Given the description of an element on the screen output the (x, y) to click on. 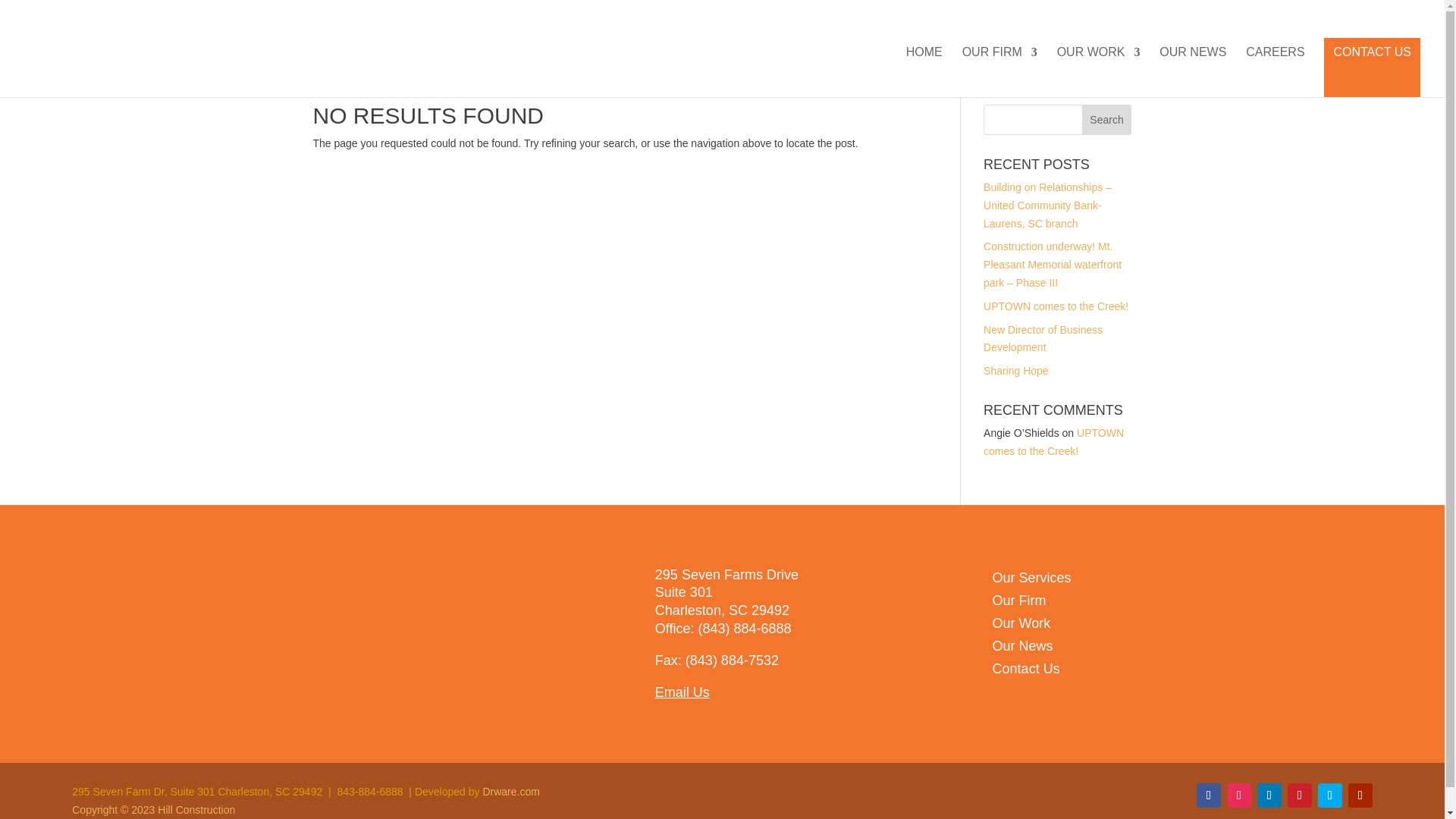
CONTACT US (1372, 67)
Email Us (682, 692)
Our News (1022, 648)
Follow on Twitter (1329, 794)
OUR WORK (1098, 70)
New Director of Business Development (1043, 338)
OUR NEWS (1191, 70)
Search (1106, 119)
Follow on Pinterest (1299, 794)
UPTOWN comes to the Creek! (1054, 441)
